Given the description of an element on the screen output the (x, y) to click on. 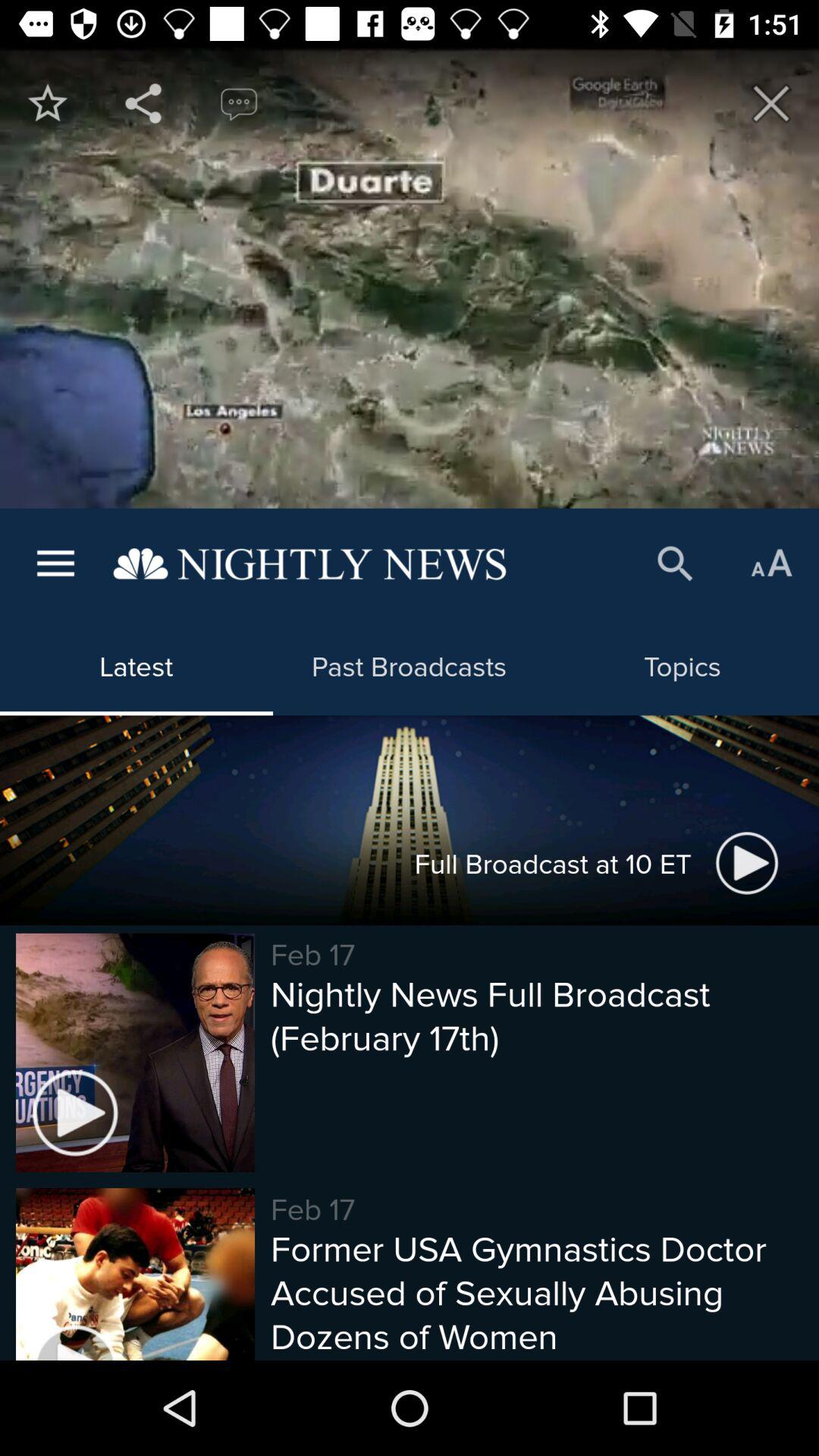
share app (143, 103)
